Given the description of an element on the screen output the (x, y) to click on. 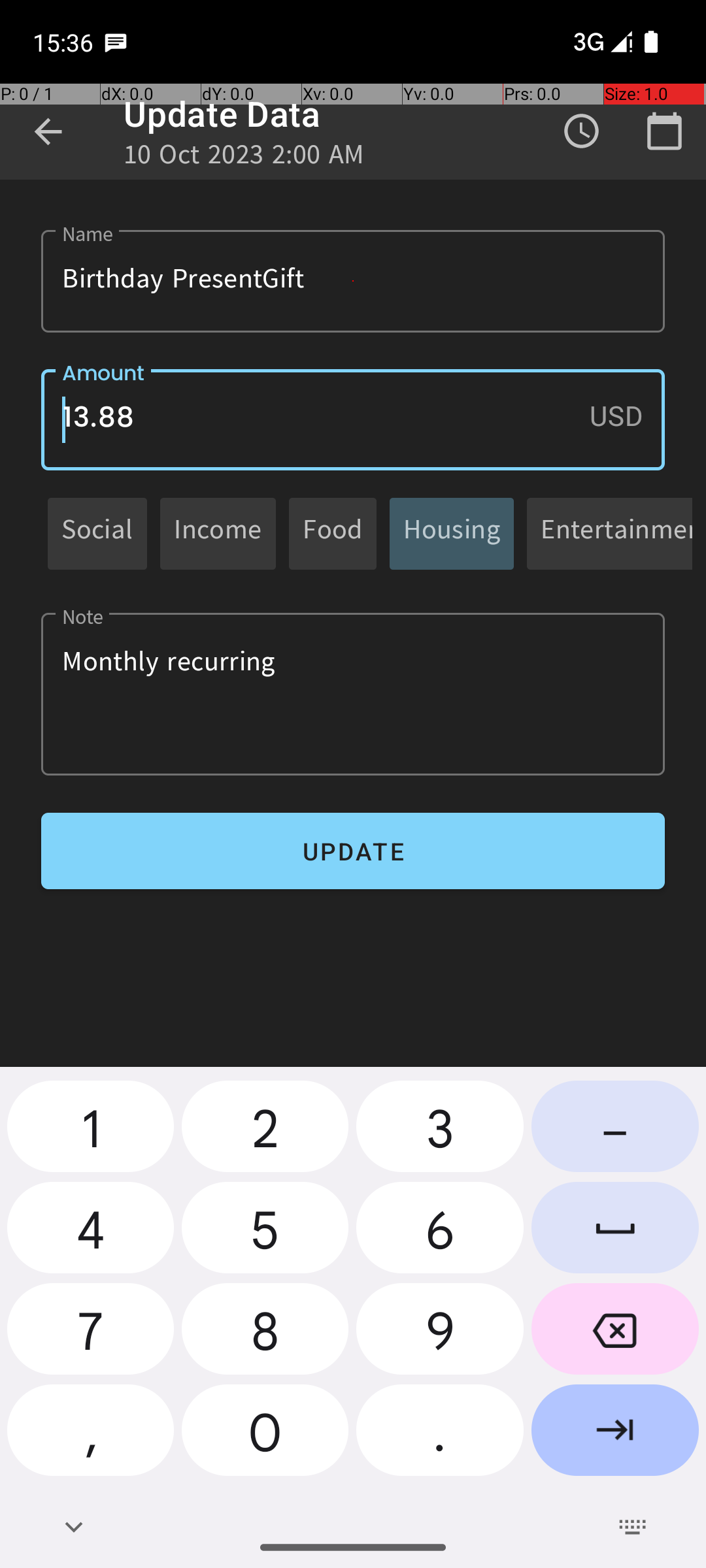
10 Oct 2023 2:00 AM Element type: android.widget.TextView (243, 157)
Birthday PresentGift Element type: android.widget.EditText (352, 280)
13.88 Element type: android.widget.EditText (352, 419)
Monthly recurring Element type: android.widget.EditText (352, 693)
Dash Element type: android.widget.FrameLayout (614, 1130)
15:36 Element type: android.widget.TextView (64, 41)
